Given the description of an element on the screen output the (x, y) to click on. 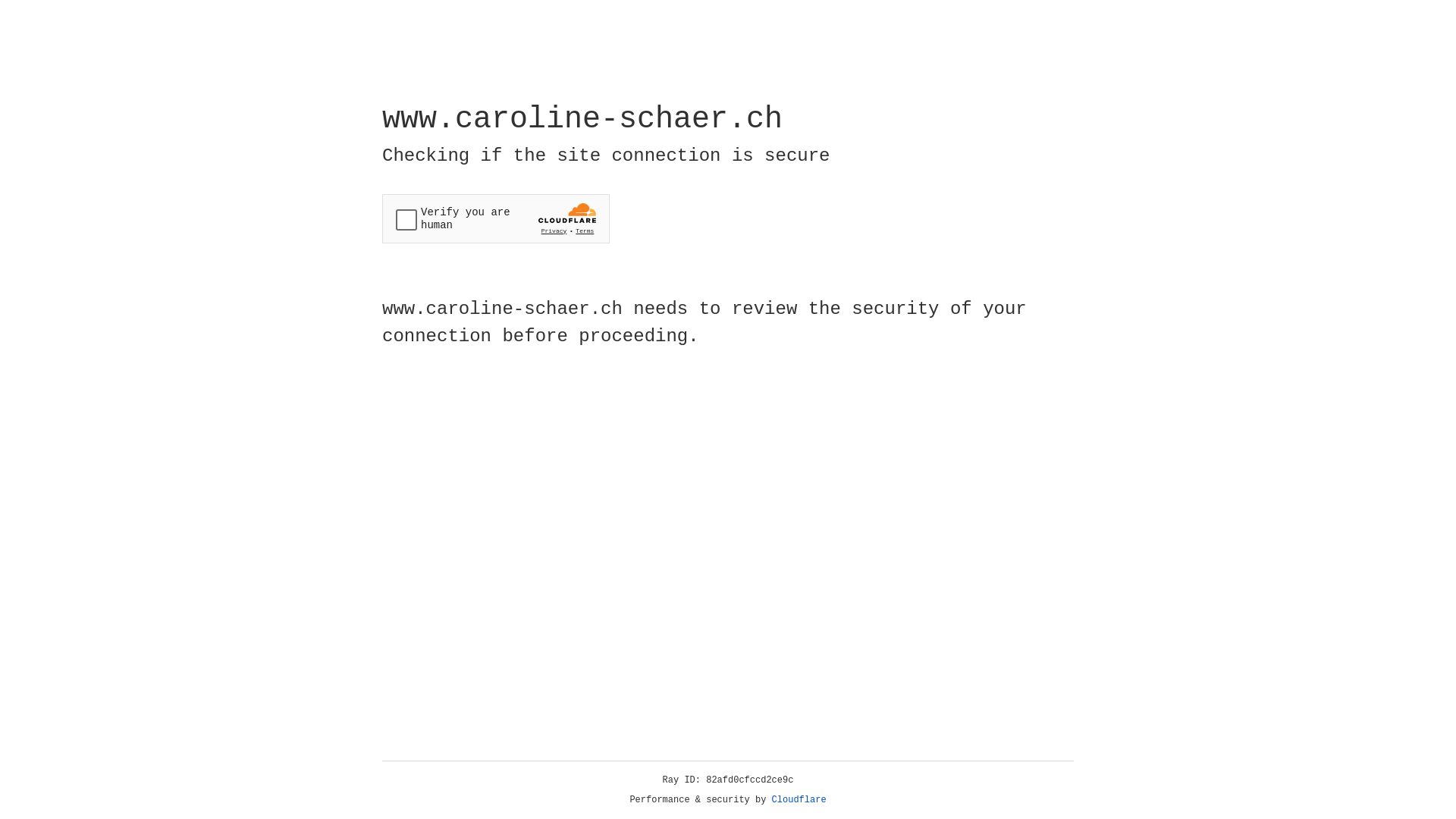
Widget containing a Cloudflare security challenge Element type: hover (495, 218)
Cloudflare Element type: text (798, 799)
